Given the description of an element on the screen output the (x, y) to click on. 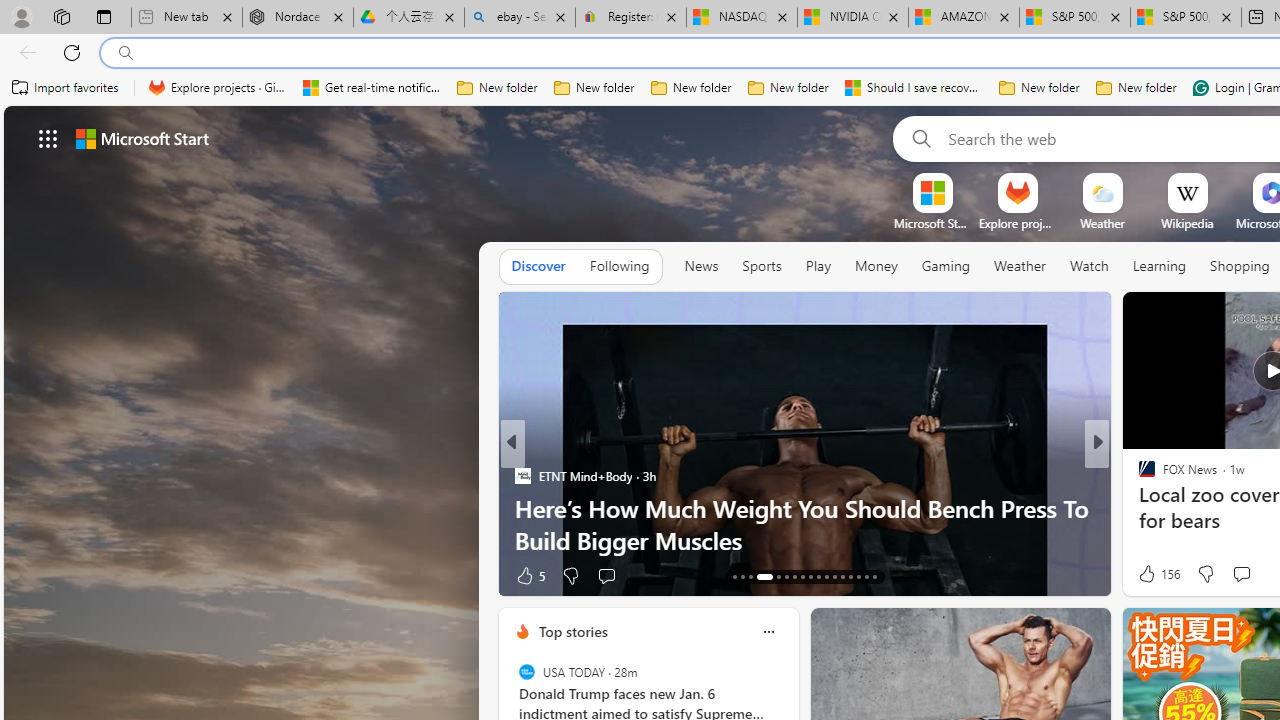
The Telegraph (1138, 475)
Mashable (1138, 507)
View comments 117 Comment (1228, 575)
AutomationID: tab-23 (825, 576)
14 Like (1149, 574)
